Given the description of an element on the screen output the (x, y) to click on. 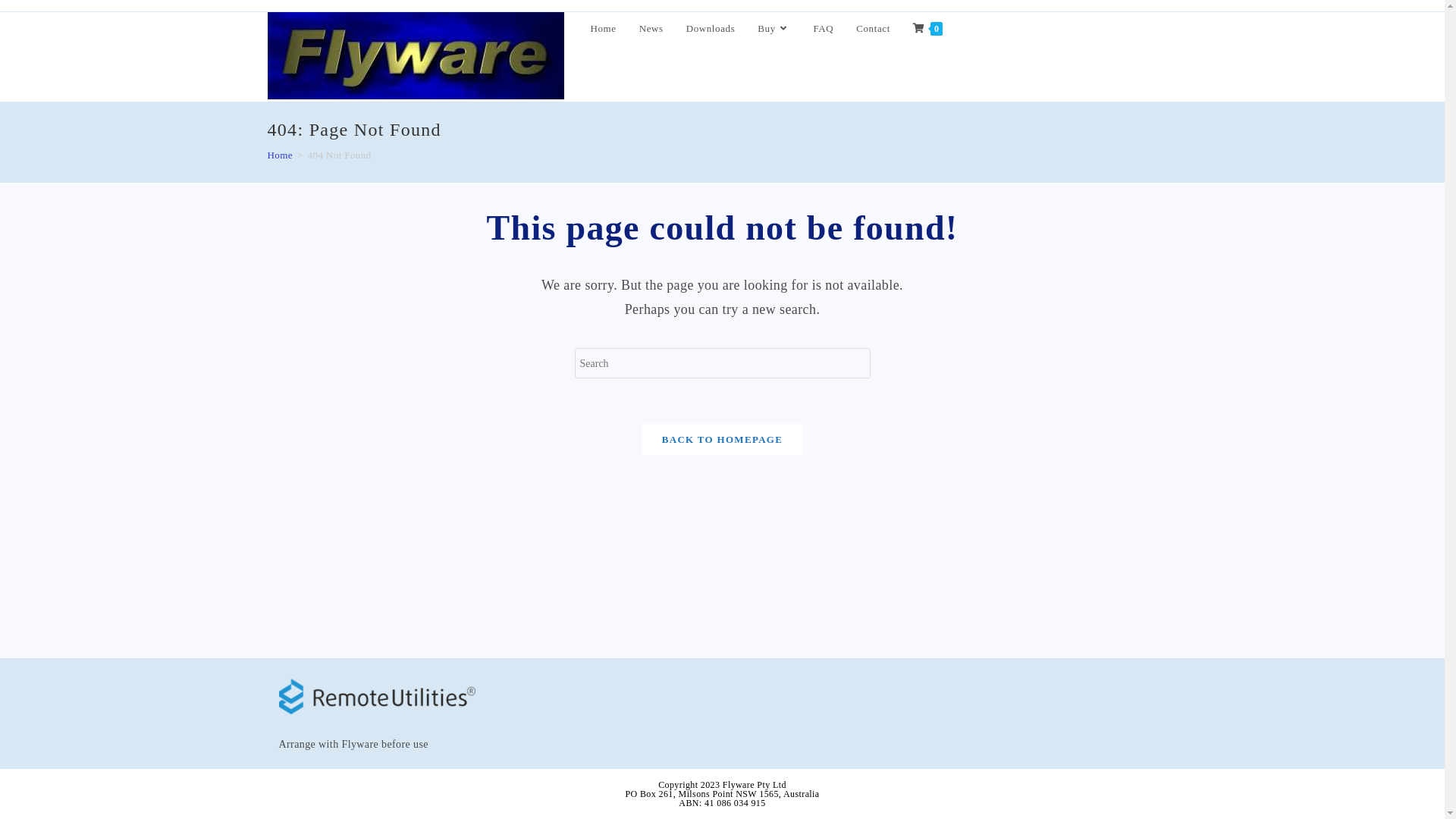
FAQ Element type: text (822, 28)
BACK TO HOMEPAGE Element type: text (722, 439)
News Element type: text (650, 28)
Home Element type: text (603, 28)
Home Element type: text (278, 154)
Buy Element type: text (773, 28)
Contact Element type: text (872, 28)
0 Element type: text (927, 28)
Downloads Element type: text (710, 28)
